Given the description of an element on the screen output the (x, y) to click on. 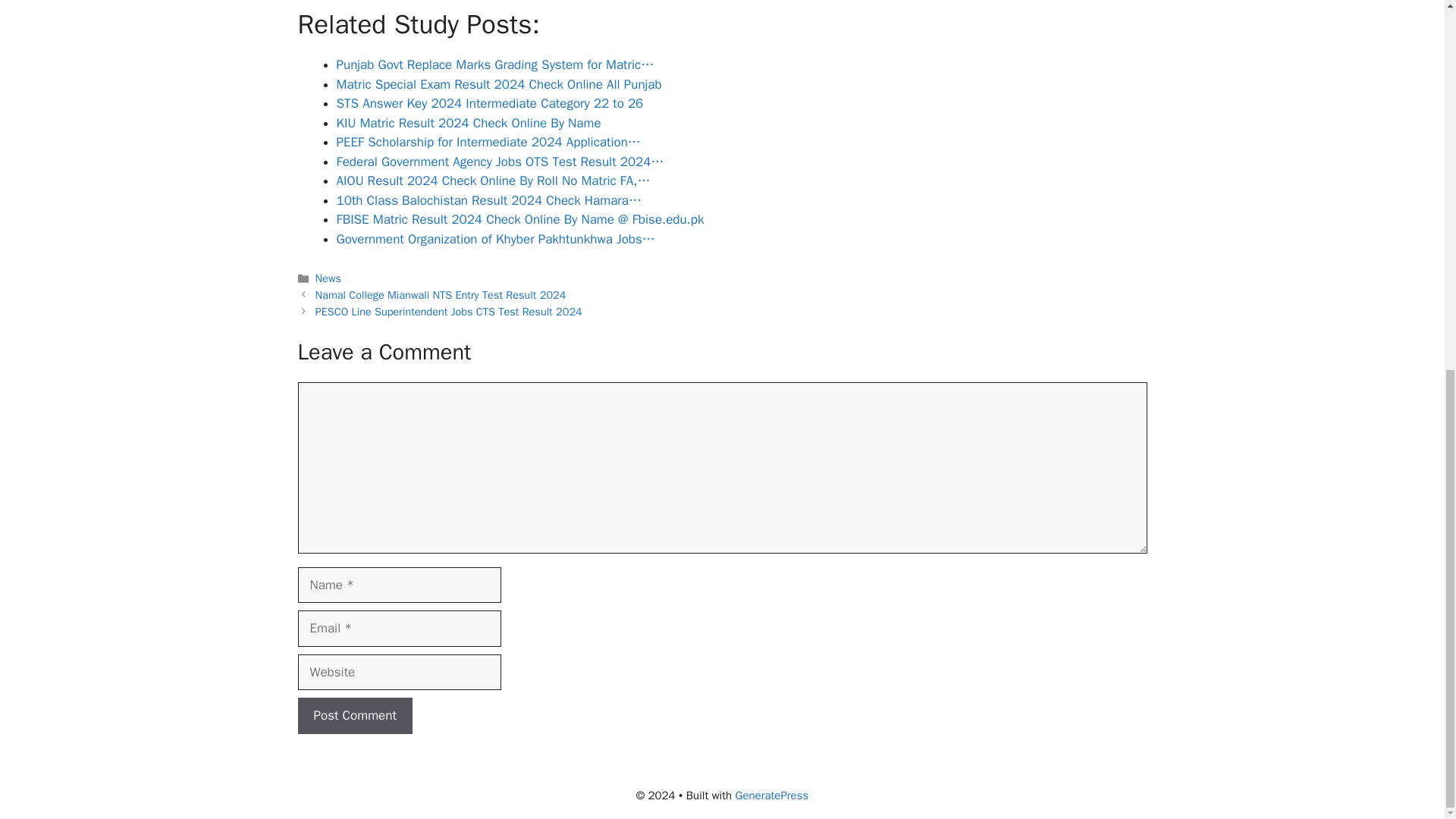
Namal College Mianwali NTS Entry Test Result 2024 (440, 295)
KIU Matric Result 2024 Check Online By Name (468, 123)
Matric Special Exam Result 2024 Check Online All Punjab (499, 84)
Post Comment (354, 715)
PESCO Line Superintendent Jobs CTS Test Result 2024 (448, 311)
Post Comment (354, 715)
GeneratePress (772, 795)
News (327, 278)
STS Answer Key 2024 Intermediate Category 22 to 26 (489, 103)
